Given the description of an element on the screen output the (x, y) to click on. 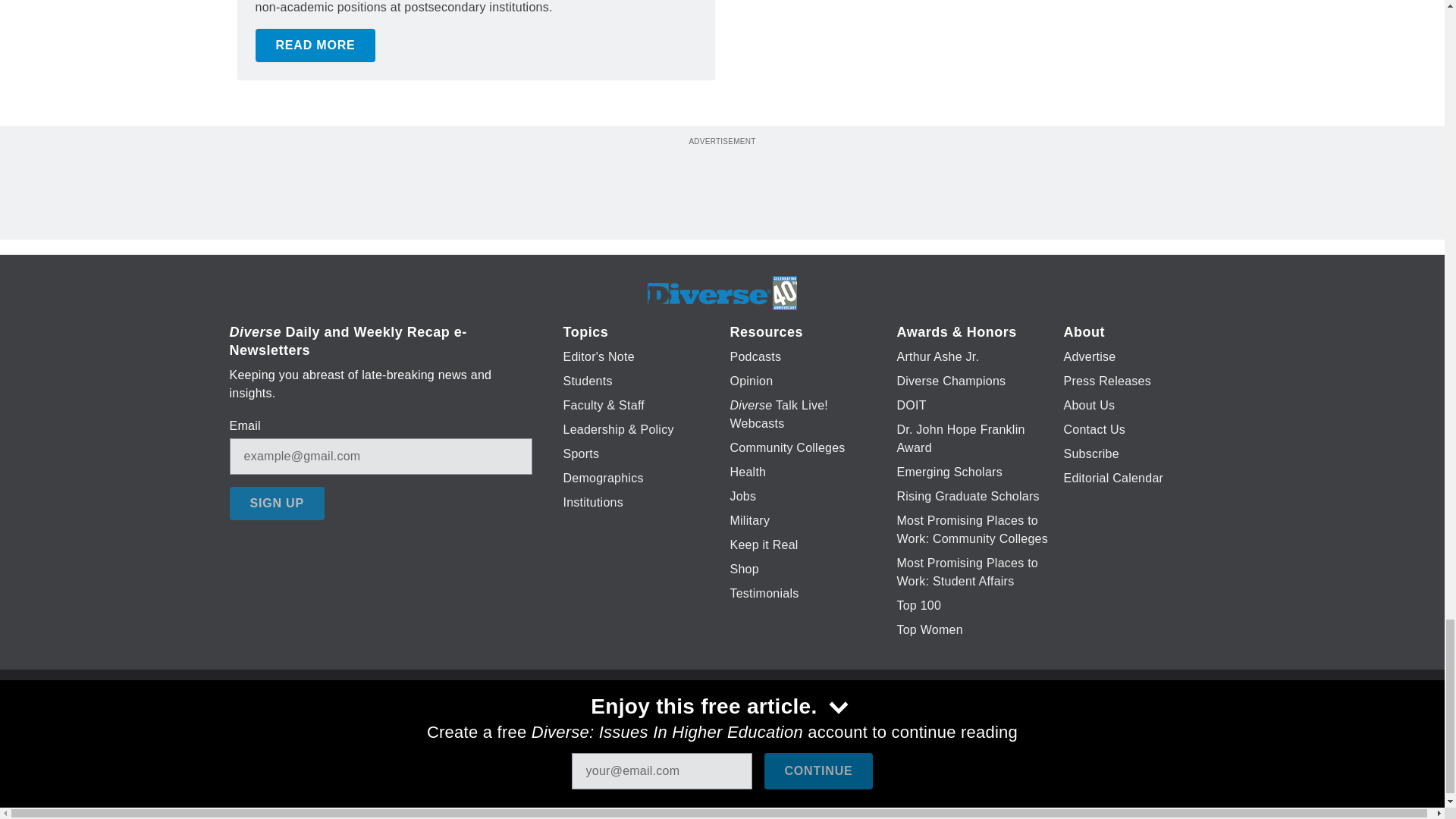
Instagram icon (796, 727)
Twitter X icon (674, 727)
LinkedIn icon (718, 727)
Facebook icon (635, 727)
YouTube icon (757, 727)
